Given the description of an element on the screen output the (x, y) to click on. 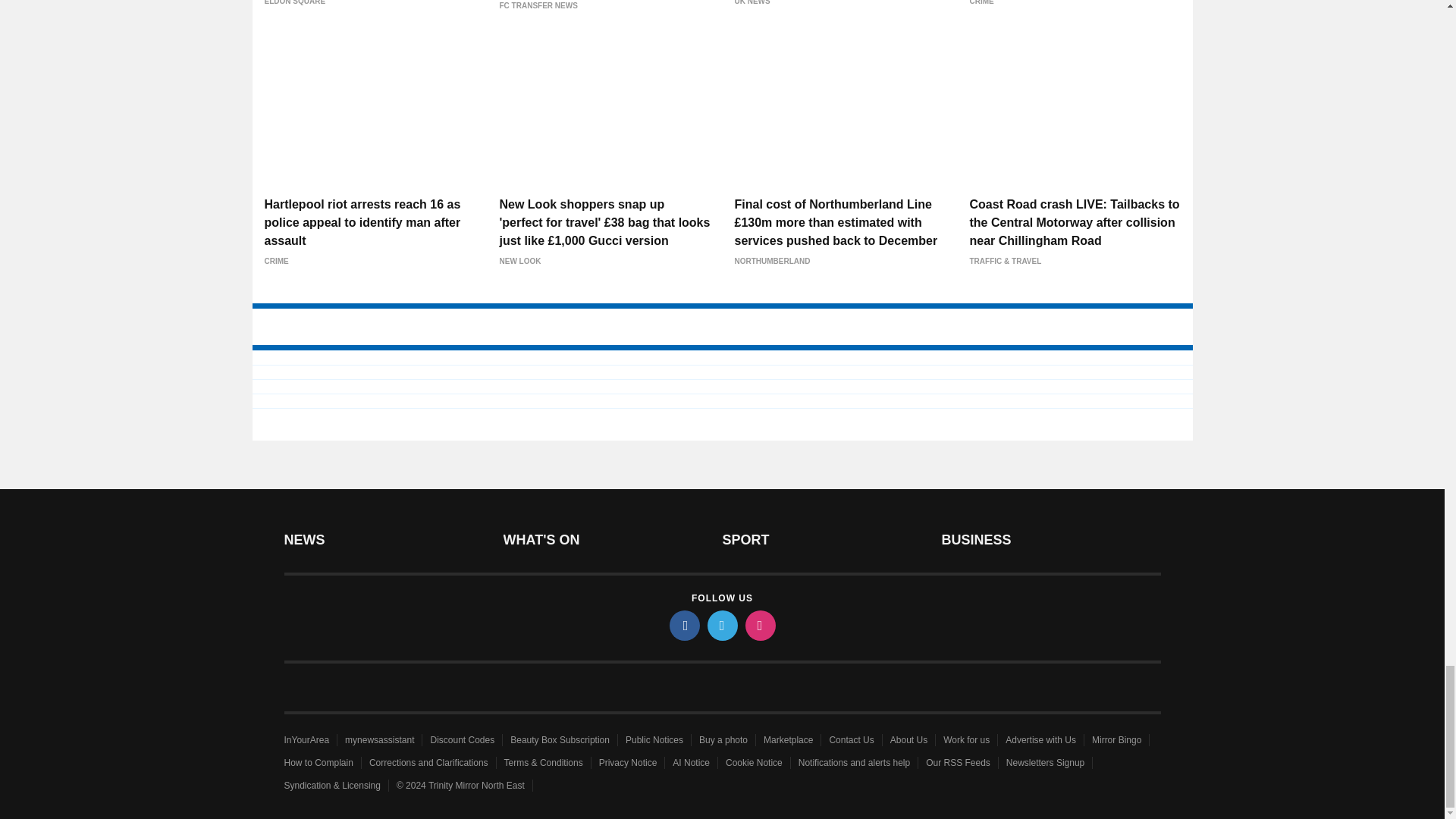
facebook (683, 625)
instagram (759, 625)
twitter (721, 625)
